Given the description of an element on the screen output the (x, y) to click on. 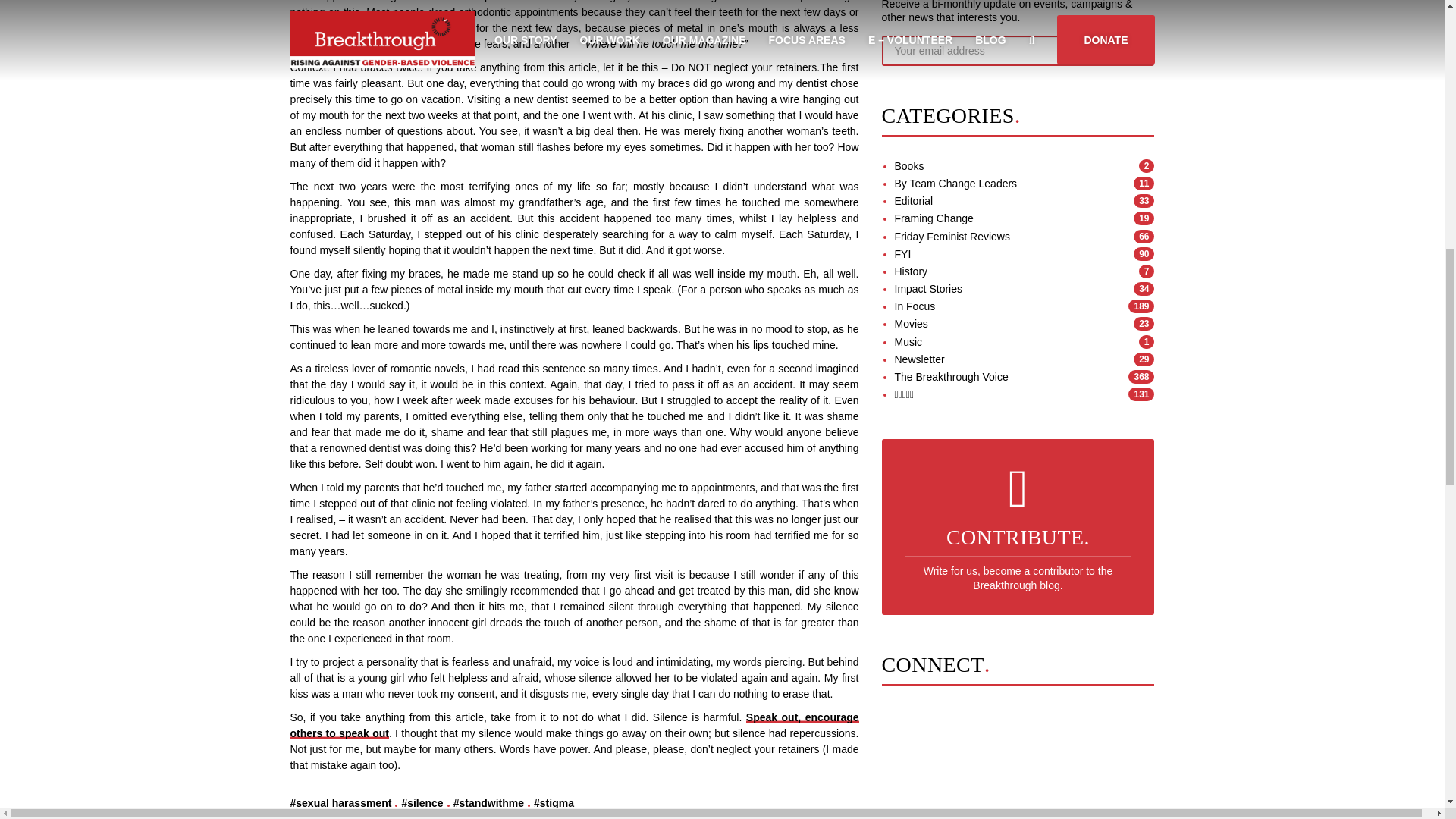
Books (909, 165)
In Focus (915, 306)
Movies (911, 323)
Editorial (914, 200)
FYI (903, 254)
silence (421, 802)
stigma (553, 802)
Impact Stories (928, 288)
Speak out, encourage others to speak out (574, 725)
Framing Change (934, 218)
